Given the description of an element on the screen output the (x, y) to click on. 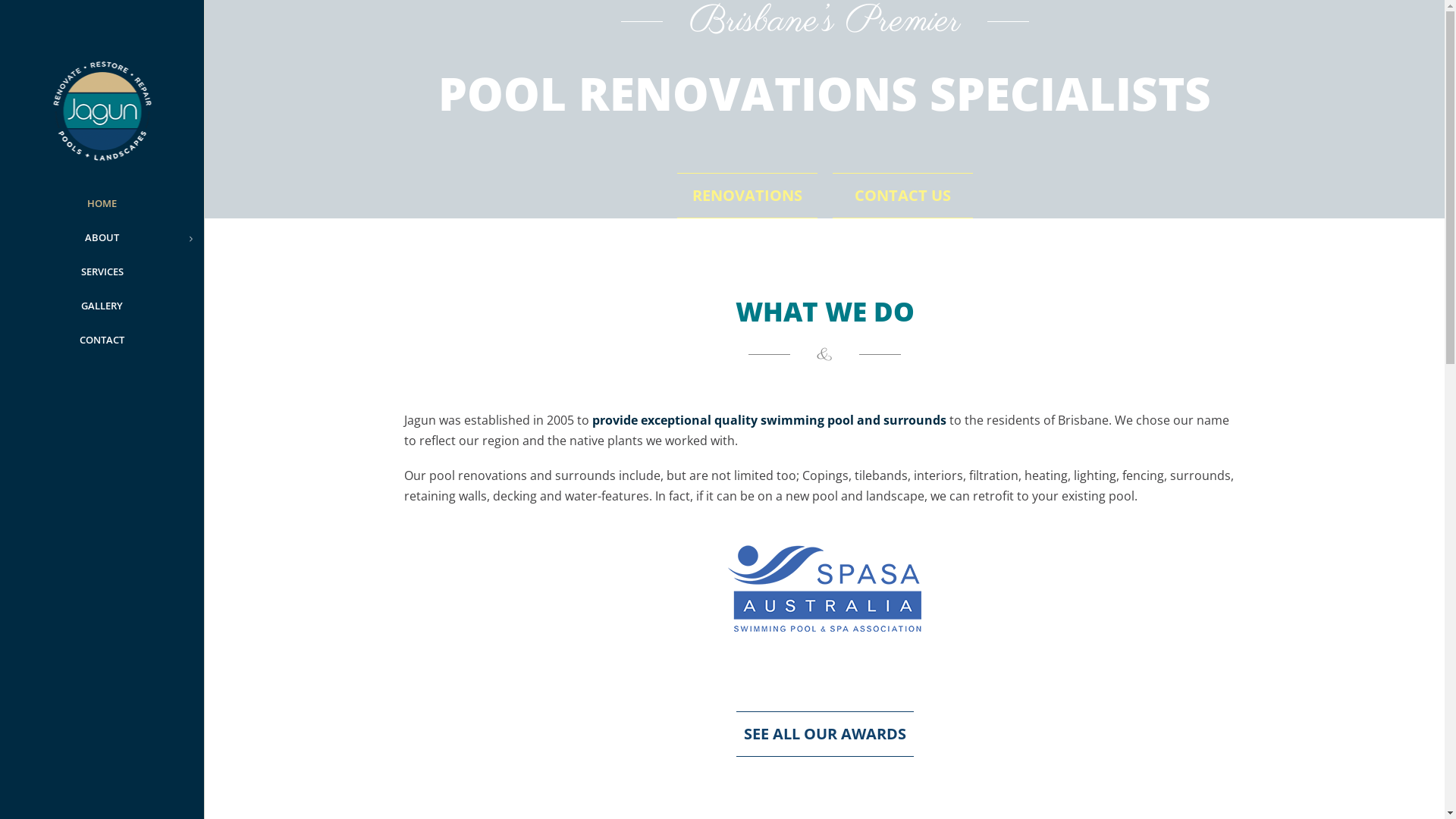
RENOVATIONS Element type: text (746, 195)
SERVICES Element type: text (101, 271)
Jagun Element type: hover (101, 121)
HOME Element type: text (101, 203)
Pools + Landscape Element type: hover (101, 111)
GALLERY Element type: text (101, 305)
CONTACT US Element type: text (902, 195)
SEE ALL OUR AWARDS Element type: text (824, 733)
CONTACT Element type: text (101, 340)
ABOUT Element type: text (101, 237)
